Given the description of an element on the screen output the (x, y) to click on. 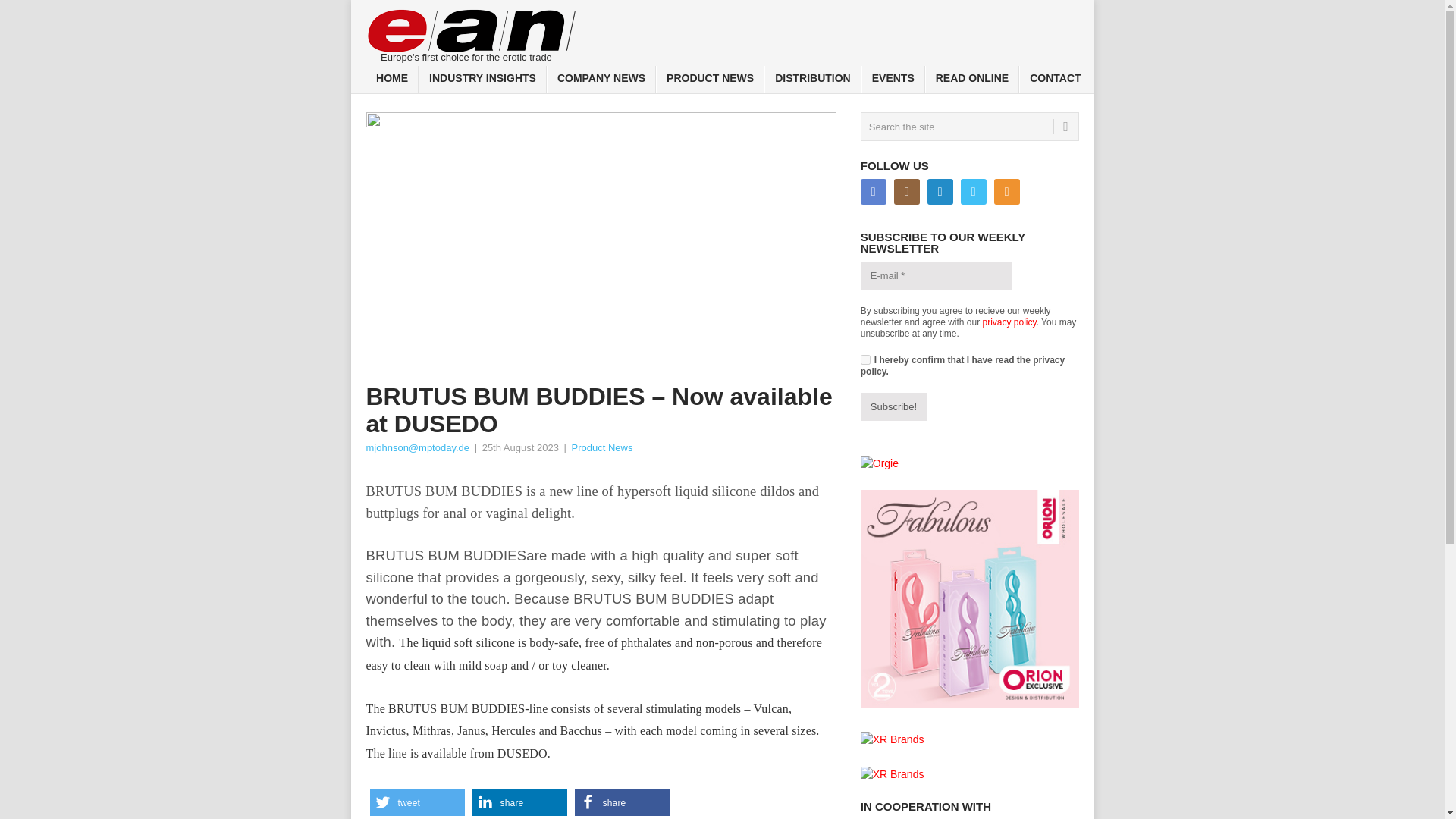
Subscribe! (893, 407)
Twitter (973, 191)
EVENTS (892, 80)
tweet  (416, 802)
Product News (600, 447)
privacy policy (1009, 321)
Share on Twitter (416, 802)
share  (518, 802)
COMPANY NEWS (601, 80)
share  (622, 802)
Subscribe! (893, 407)
Europe's first choice for the erotic trade (472, 32)
Share on Facebook (622, 802)
CONTACT (1054, 80)
READ ONLINE (971, 80)
